Given the description of an element on the screen output the (x, y) to click on. 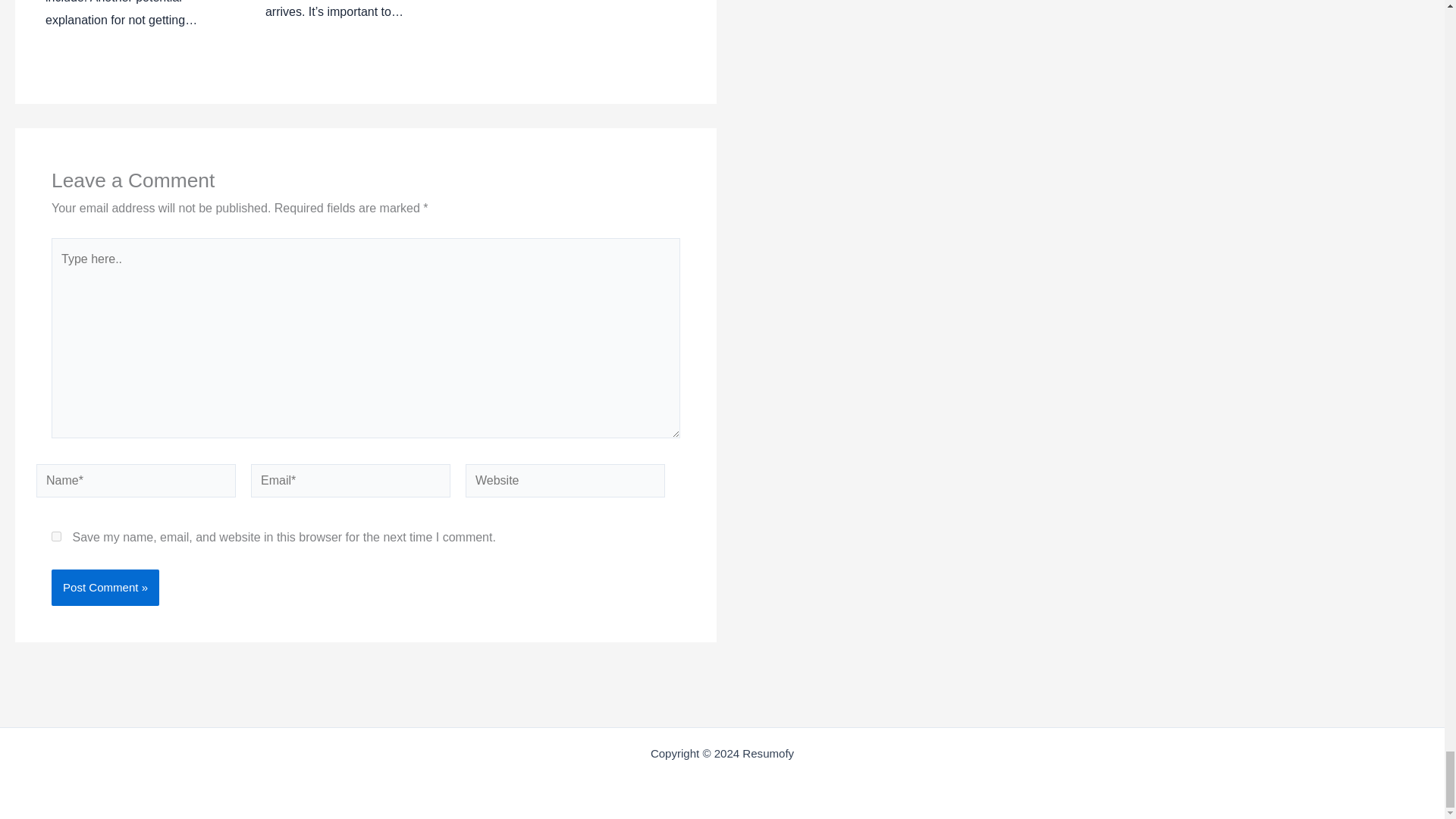
yes (55, 536)
